Given the description of an element on the screen output the (x, y) to click on. 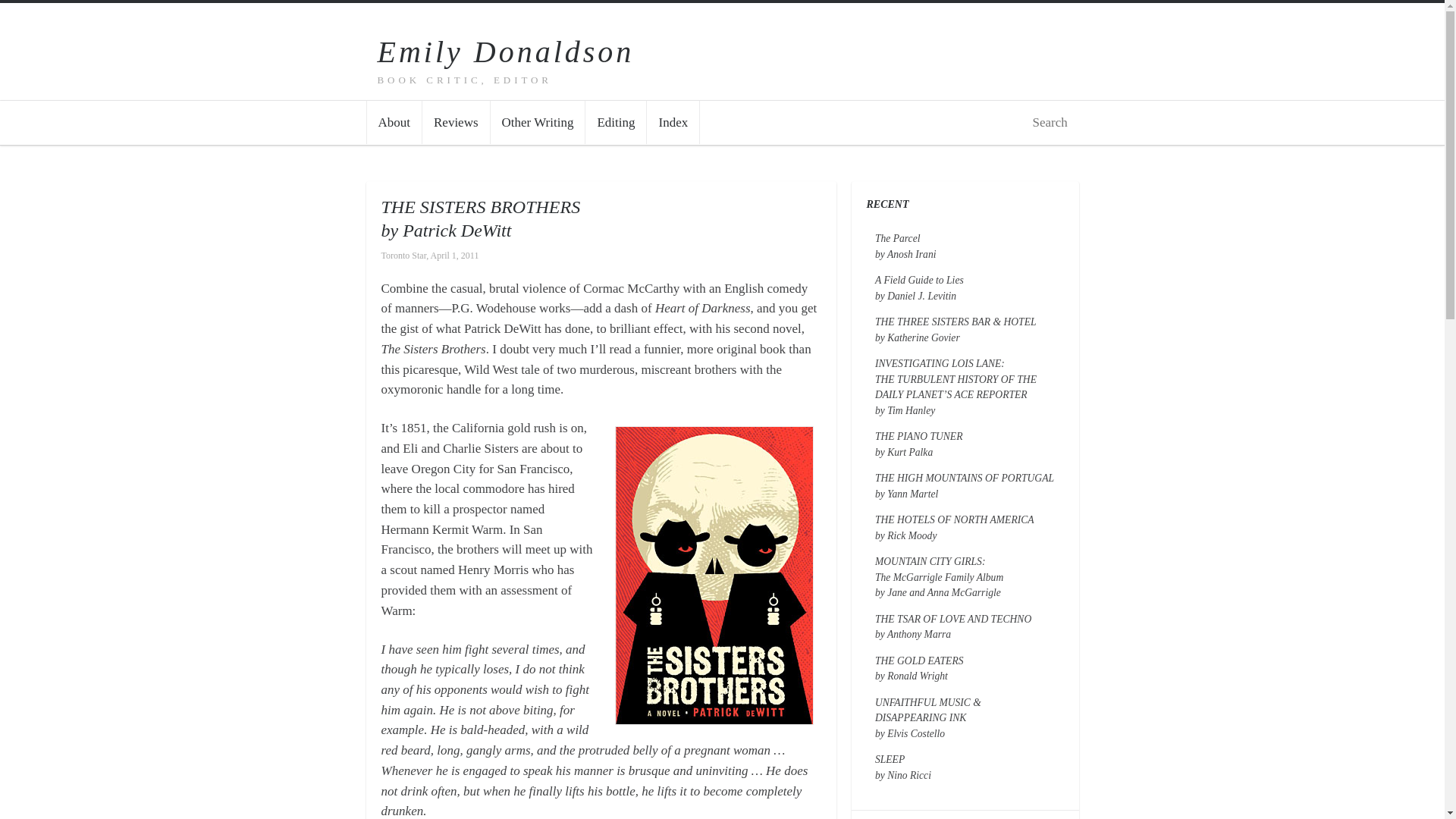
Emily Donaldson (505, 51)
About (918, 443)
Index (952, 626)
